Given the description of an element on the screen output the (x, y) to click on. 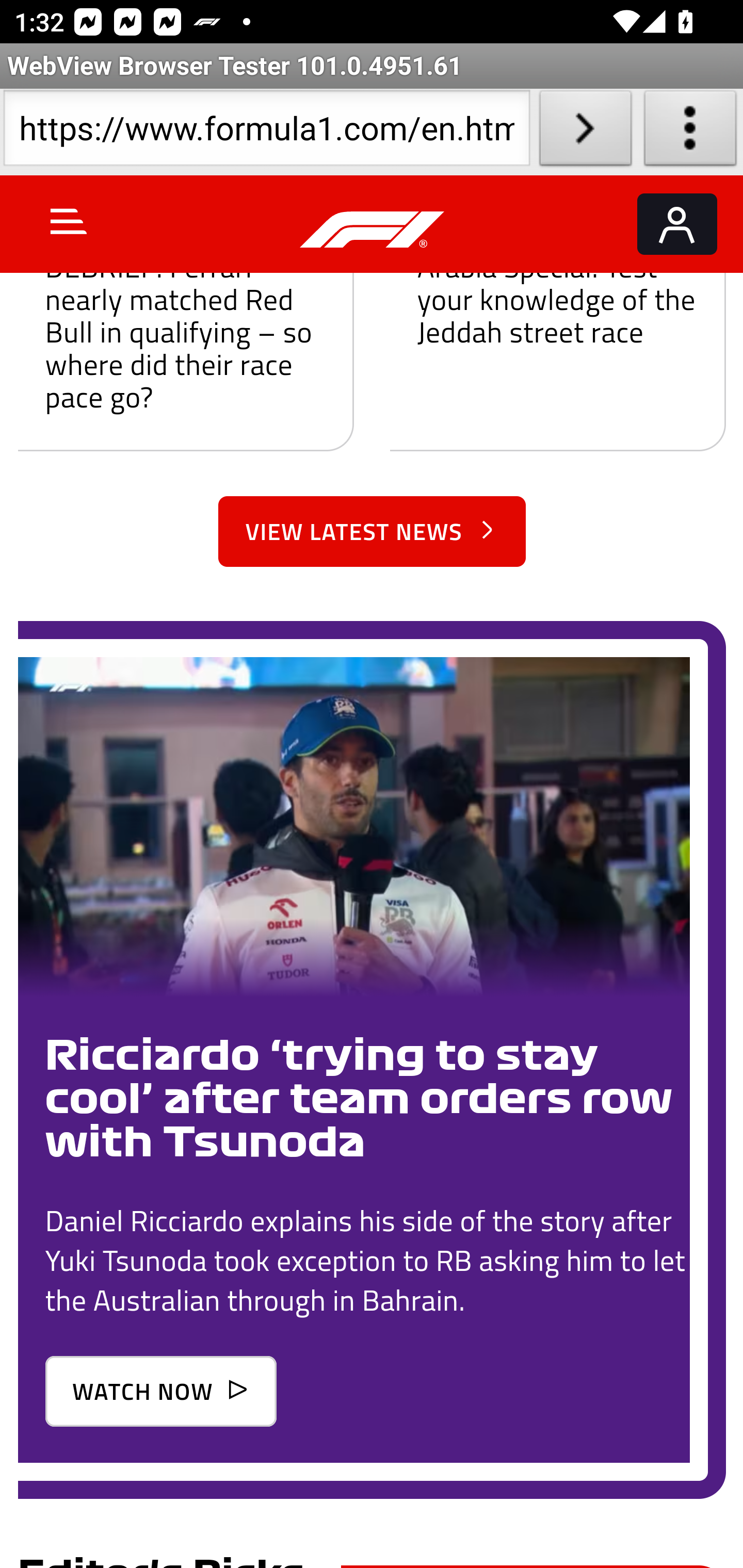
https://www.formula1.com/en.html (266, 132)
Load URL (585, 132)
About WebView (690, 132)
